Given the description of an element on the screen output the (x, y) to click on. 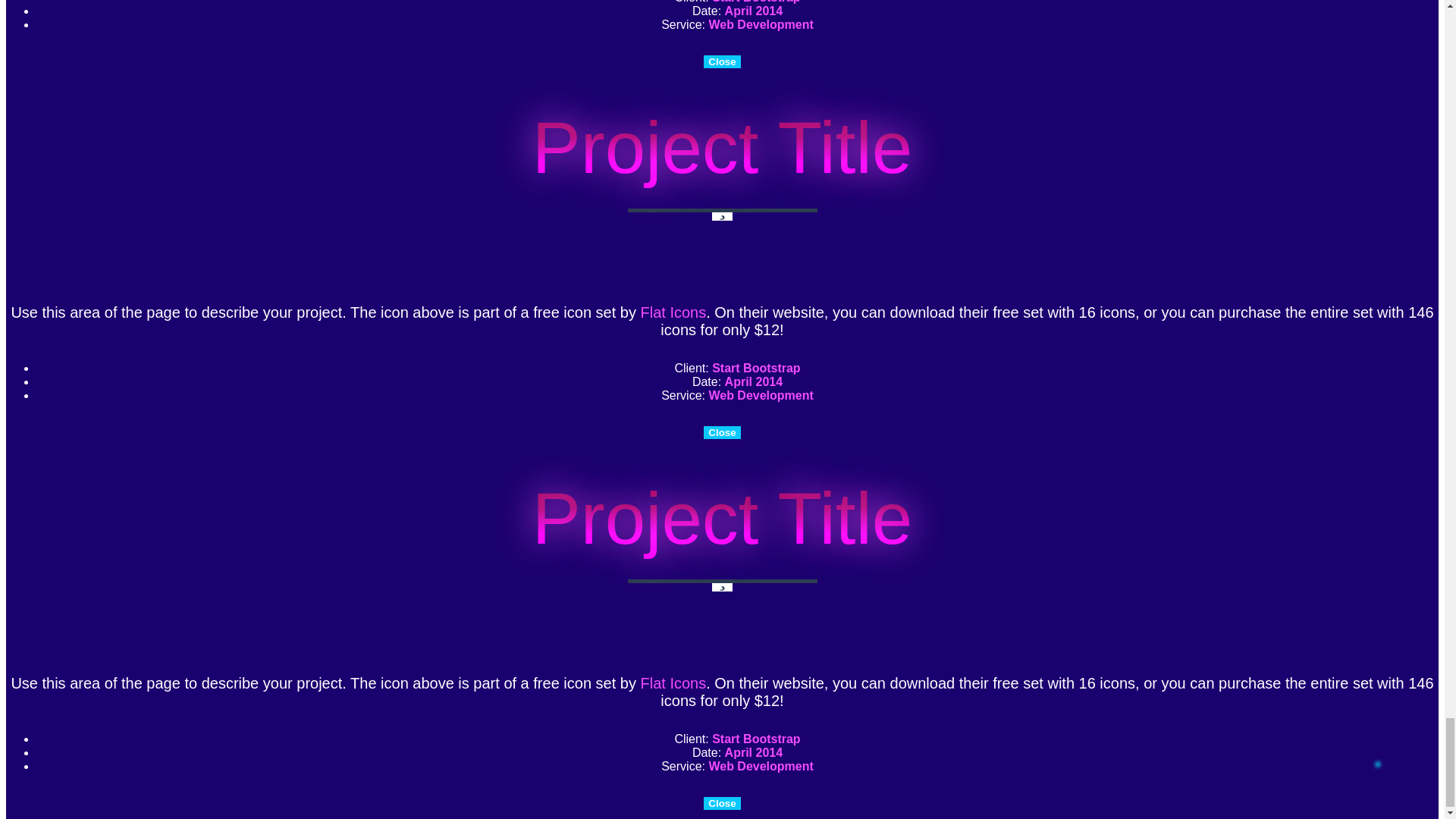
Flat Icons (673, 682)
Start Bootstrap (755, 367)
April 2014 (754, 752)
Close (721, 431)
April 2014 (754, 10)
Web Development (759, 395)
April 2014 (754, 381)
Close (721, 802)
Start Bootstrap (755, 738)
Flat Icons (673, 312)
Start Bootstrap (755, 2)
Close (721, 61)
Web Development (759, 766)
Web Development (759, 24)
